Given the description of an element on the screen output the (x, y) to click on. 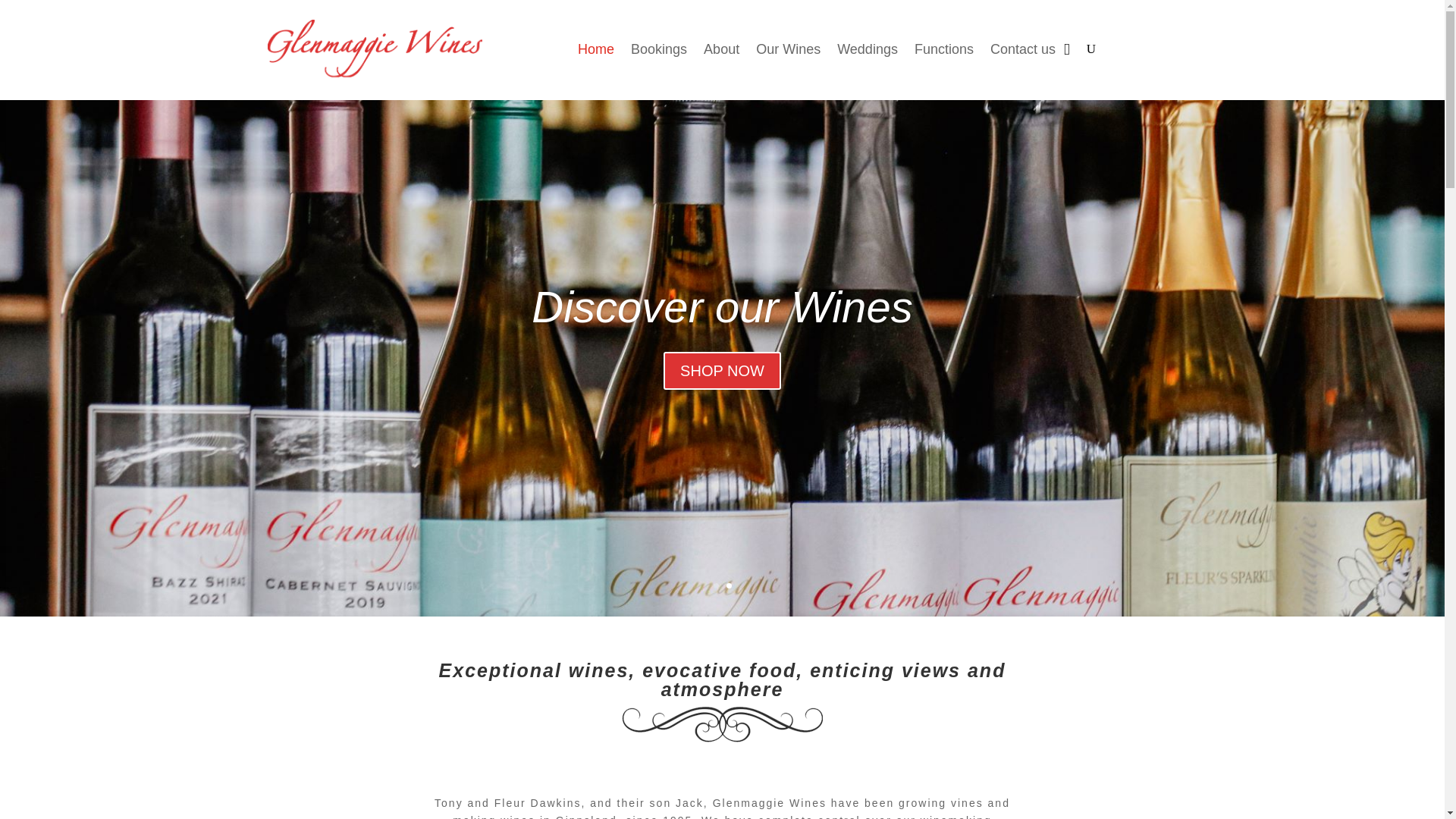
Weddings (867, 48)
Discover our Wines (721, 358)
Functions (944, 48)
2 (729, 585)
SHOP NOW (721, 420)
Our Wines (788, 48)
Contact us (1022, 48)
Bookings (658, 48)
